Given the description of an element on the screen output the (x, y) to click on. 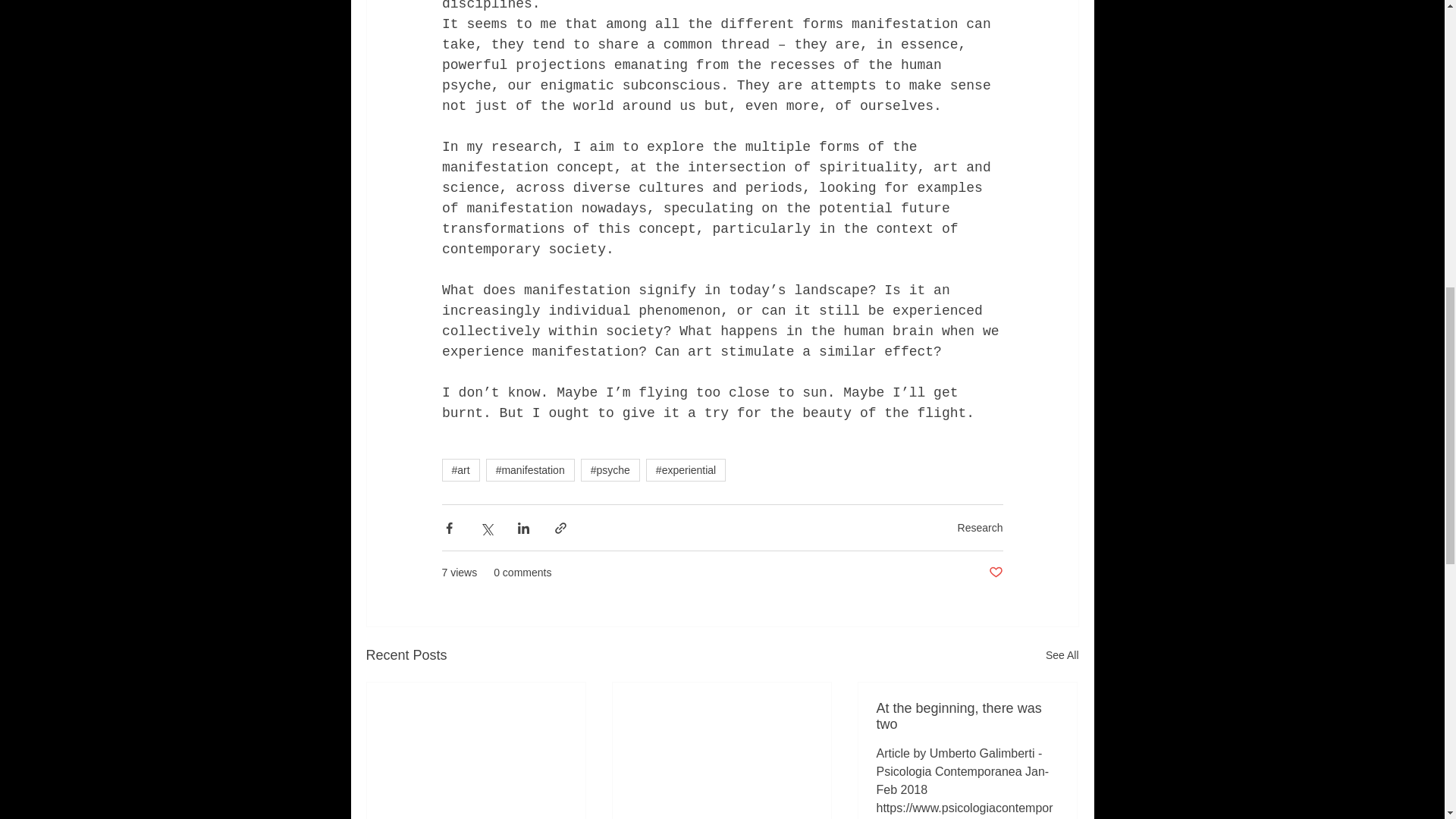
See All (1061, 655)
At the beginning, there was two (967, 716)
Research (980, 527)
Post not marked as liked (995, 572)
